Given the description of an element on the screen output the (x, y) to click on. 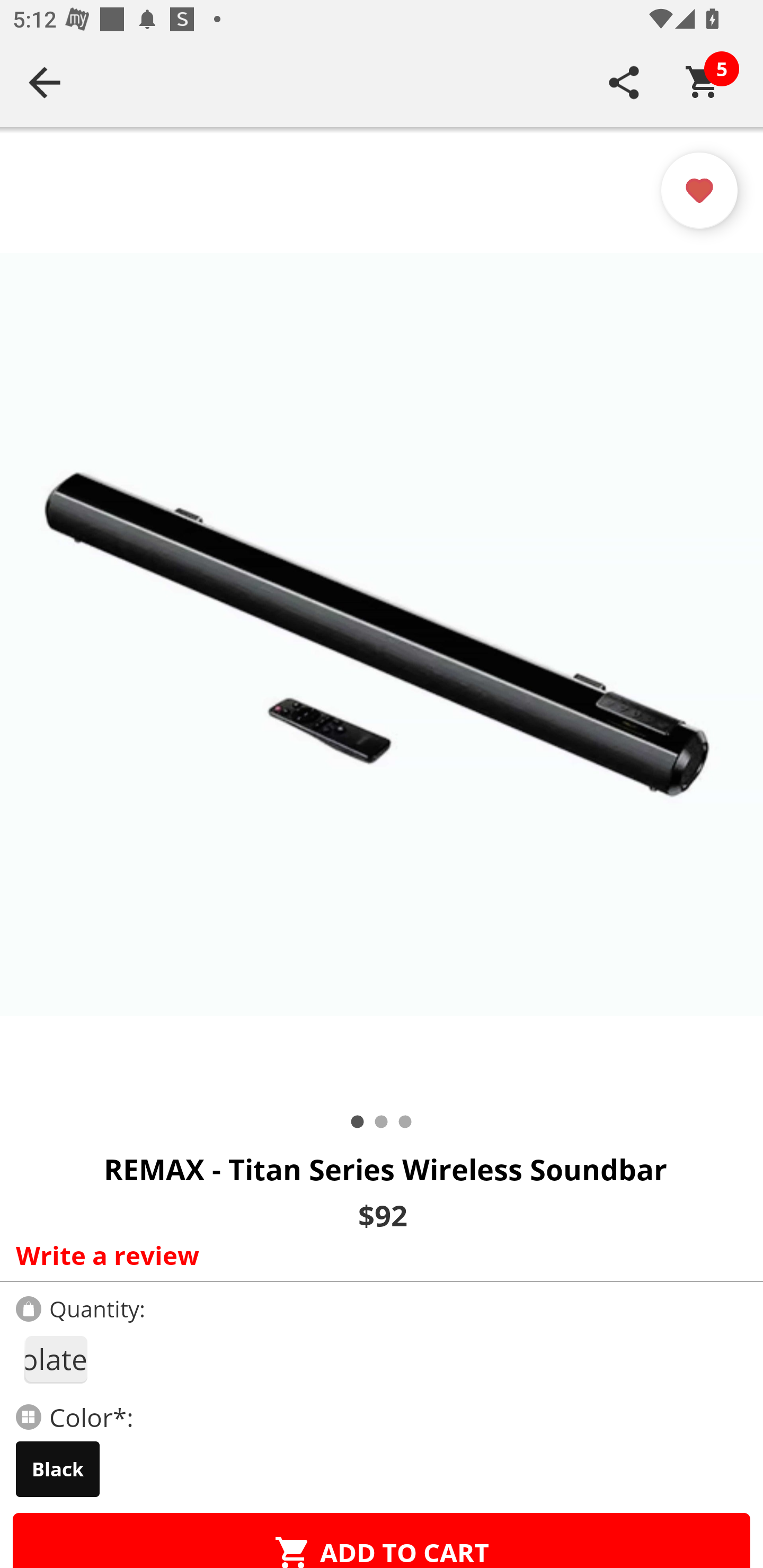
Navigate up (44, 82)
SHARE (623, 82)
Cart (703, 81)
Write a review (377, 1255)
1chocolate (55, 1358)
Black (57, 1468)
ADD TO CART (381, 1540)
